Given the description of an element on the screen output the (x, y) to click on. 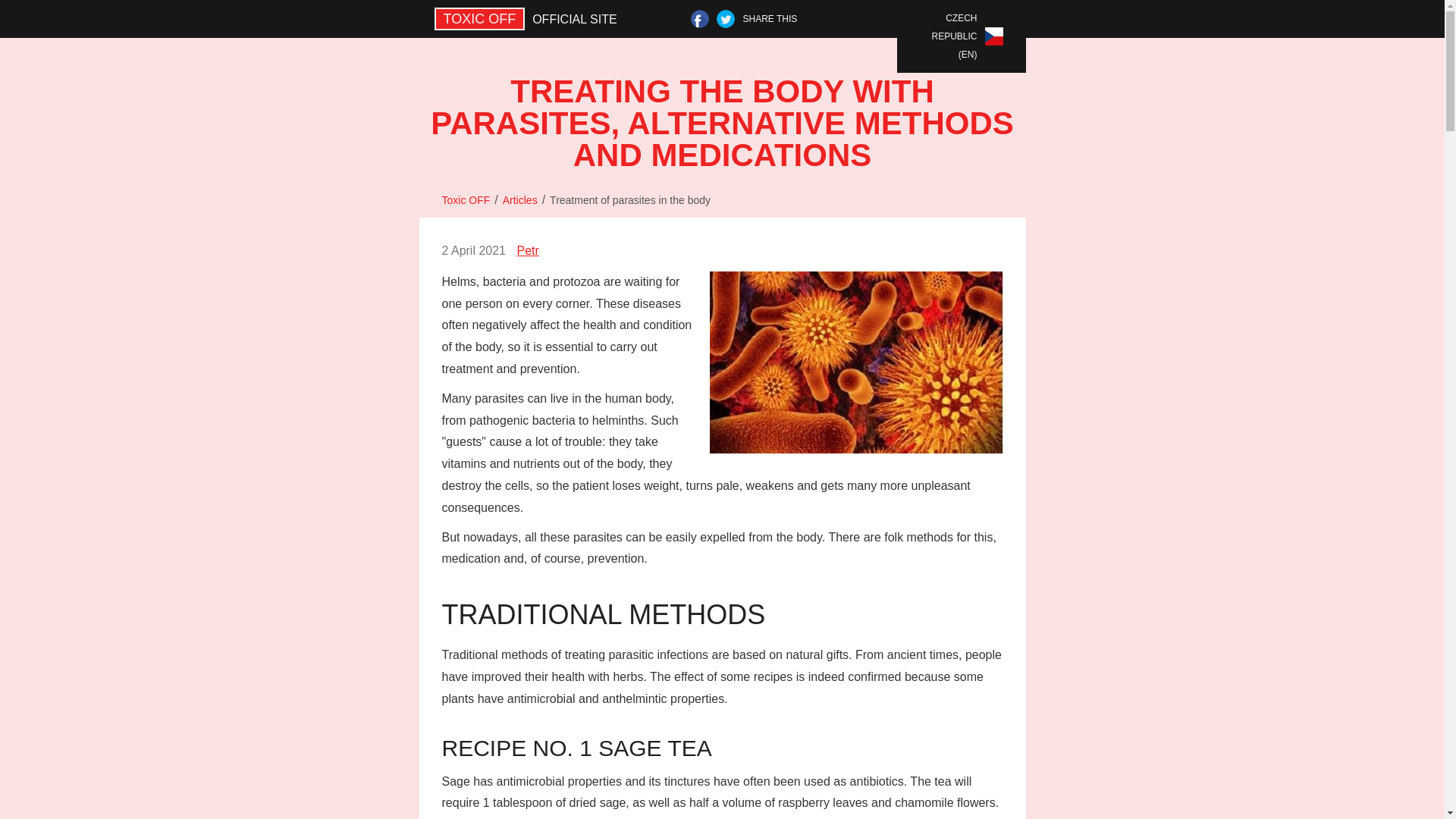
TOXIC OFF OFFICIAL SITE (528, 18)
2 April 2021 (473, 251)
Toxic OFF (465, 200)
Articles (519, 200)
Treatment of parasites in the body (630, 200)
Facebook (699, 18)
Twitter (725, 18)
Petr (527, 250)
